Given the description of an element on the screen output the (x, y) to click on. 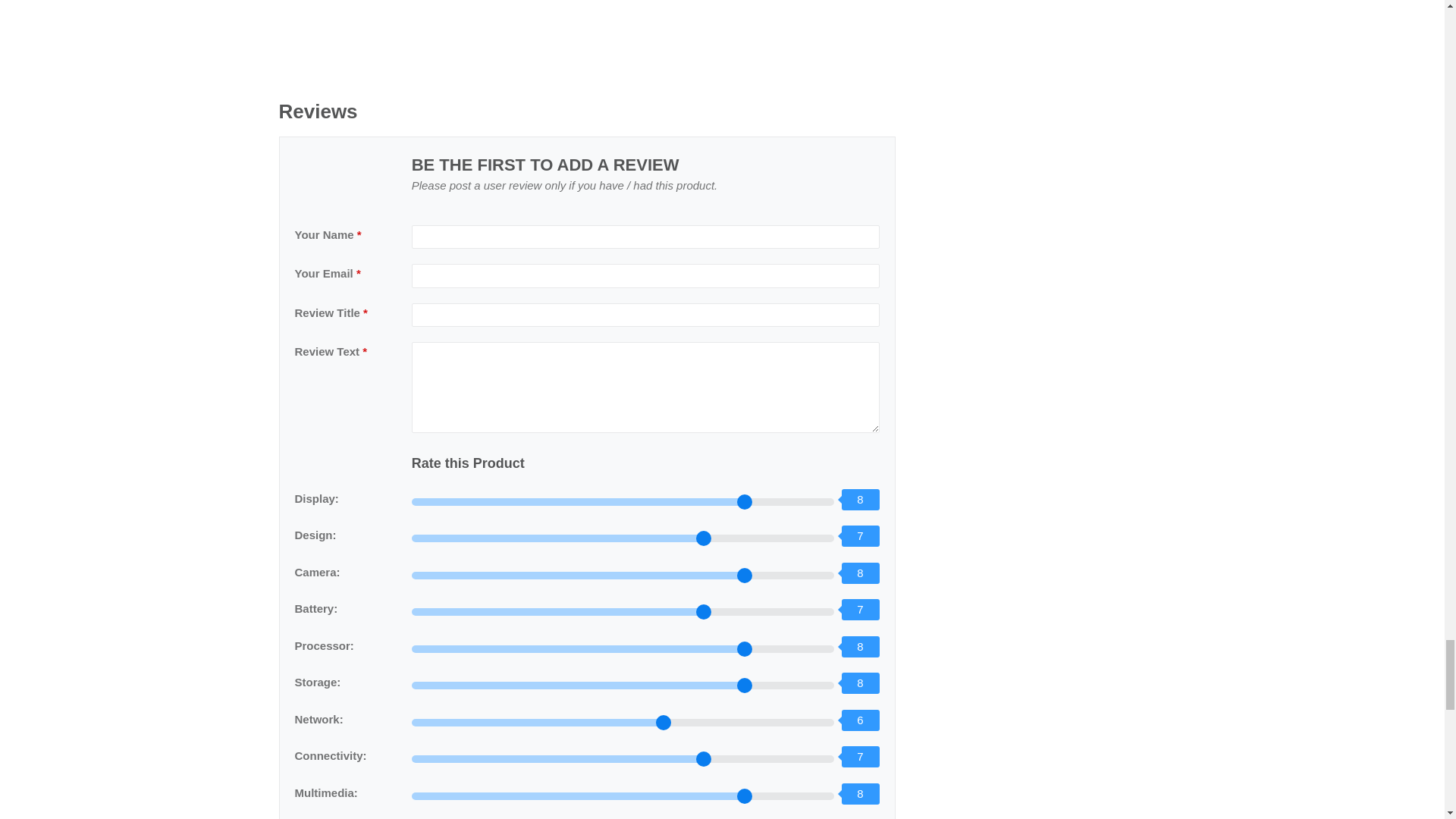
7 (623, 758)
8 (623, 648)
8 (623, 685)
8 (623, 796)
7 (623, 538)
8 (623, 501)
6 (623, 722)
8 (623, 575)
7 (623, 611)
